Given the description of an element on the screen output the (x, y) to click on. 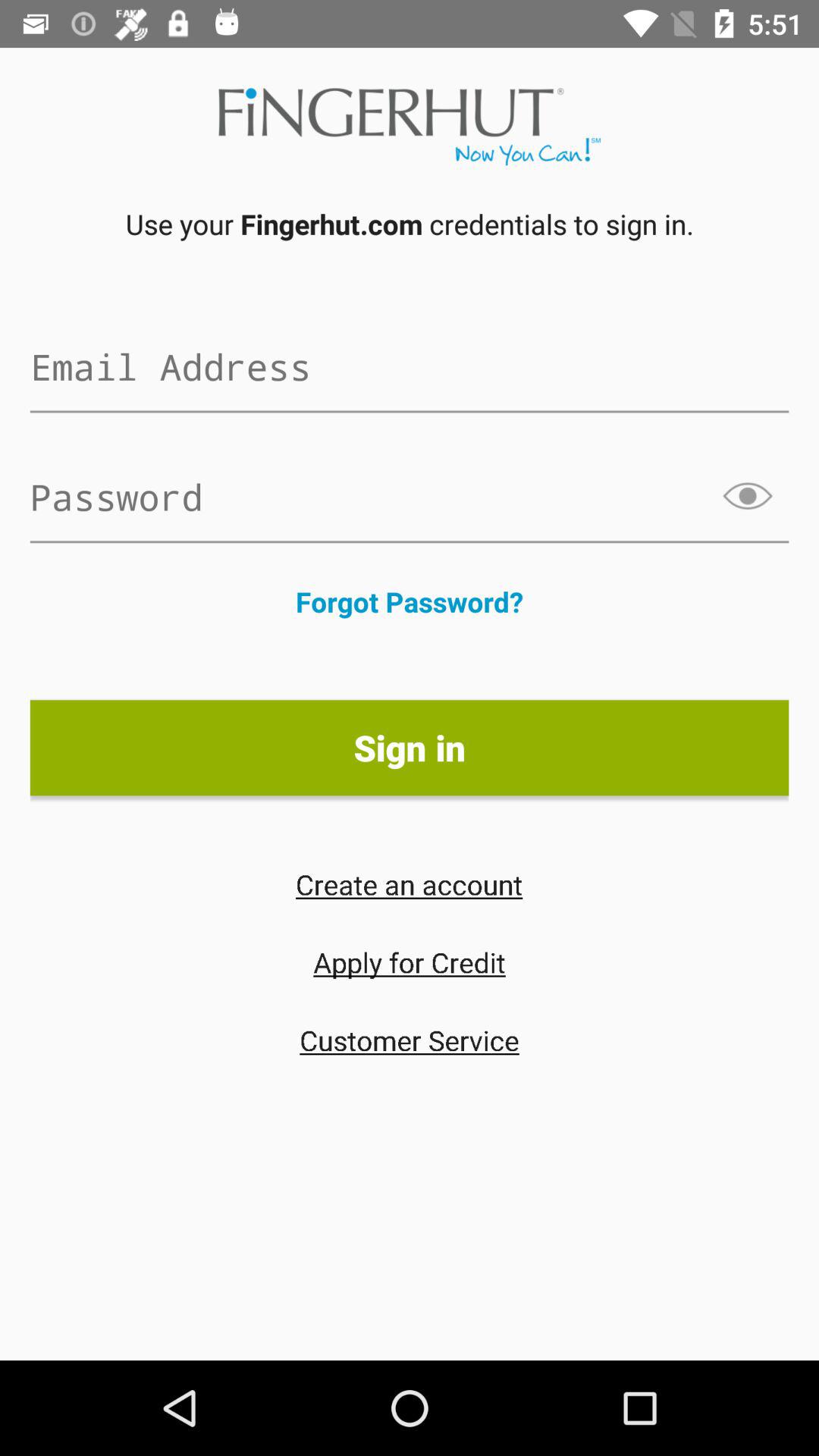
open the icon above apply for credit (408, 884)
